Given the description of an element on the screen output the (x, y) to click on. 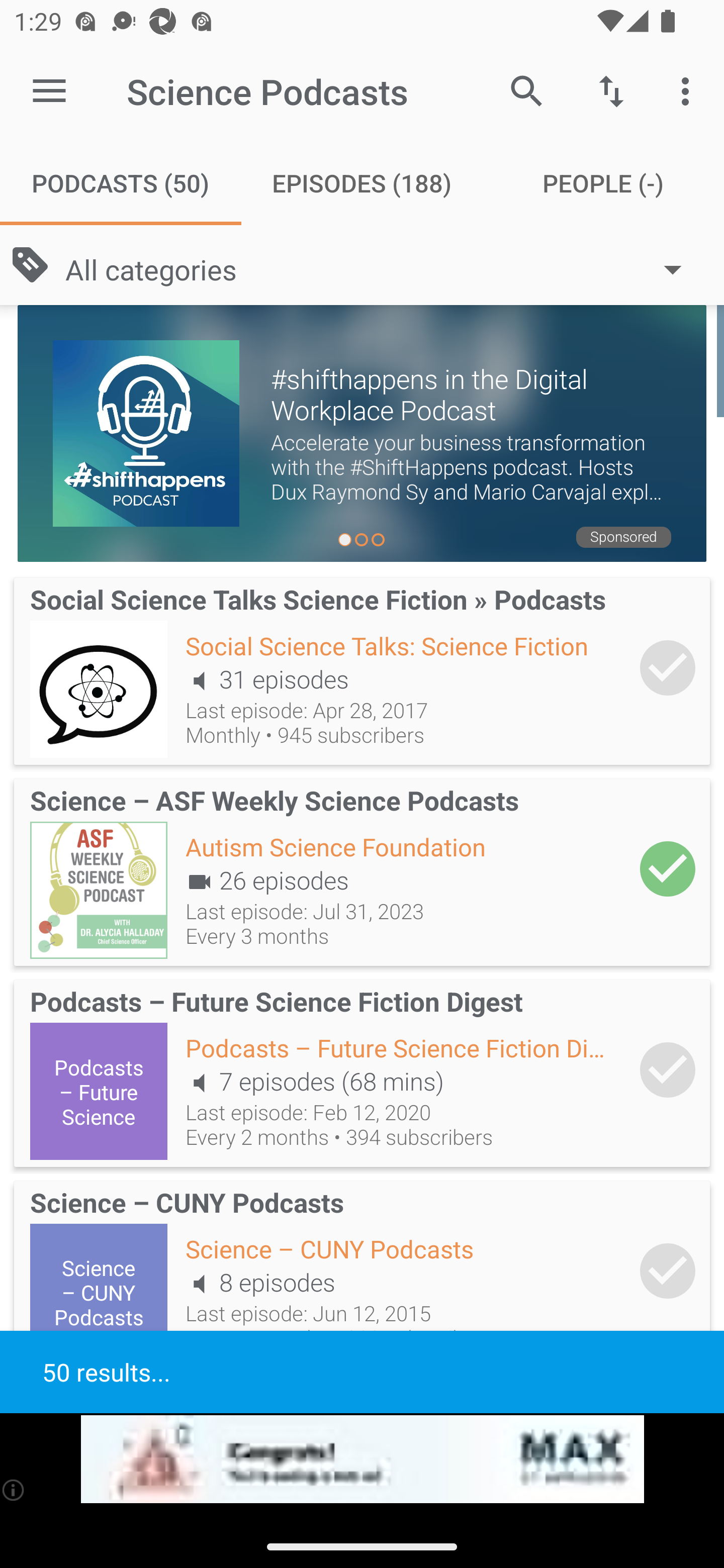
Open navigation sidebar (49, 91)
Search (526, 90)
Sort (611, 90)
More options (688, 90)
Episodes (188) EPISODES (188) (361, 183)
People (-) PEOPLE (-) (603, 183)
All categories (383, 268)
Add (667, 667)
Add (667, 868)
Add (667, 1069)
Add (667, 1271)
app-monetization (362, 1459)
(i) (14, 1489)
